Given the description of an element on the screen output the (x, y) to click on. 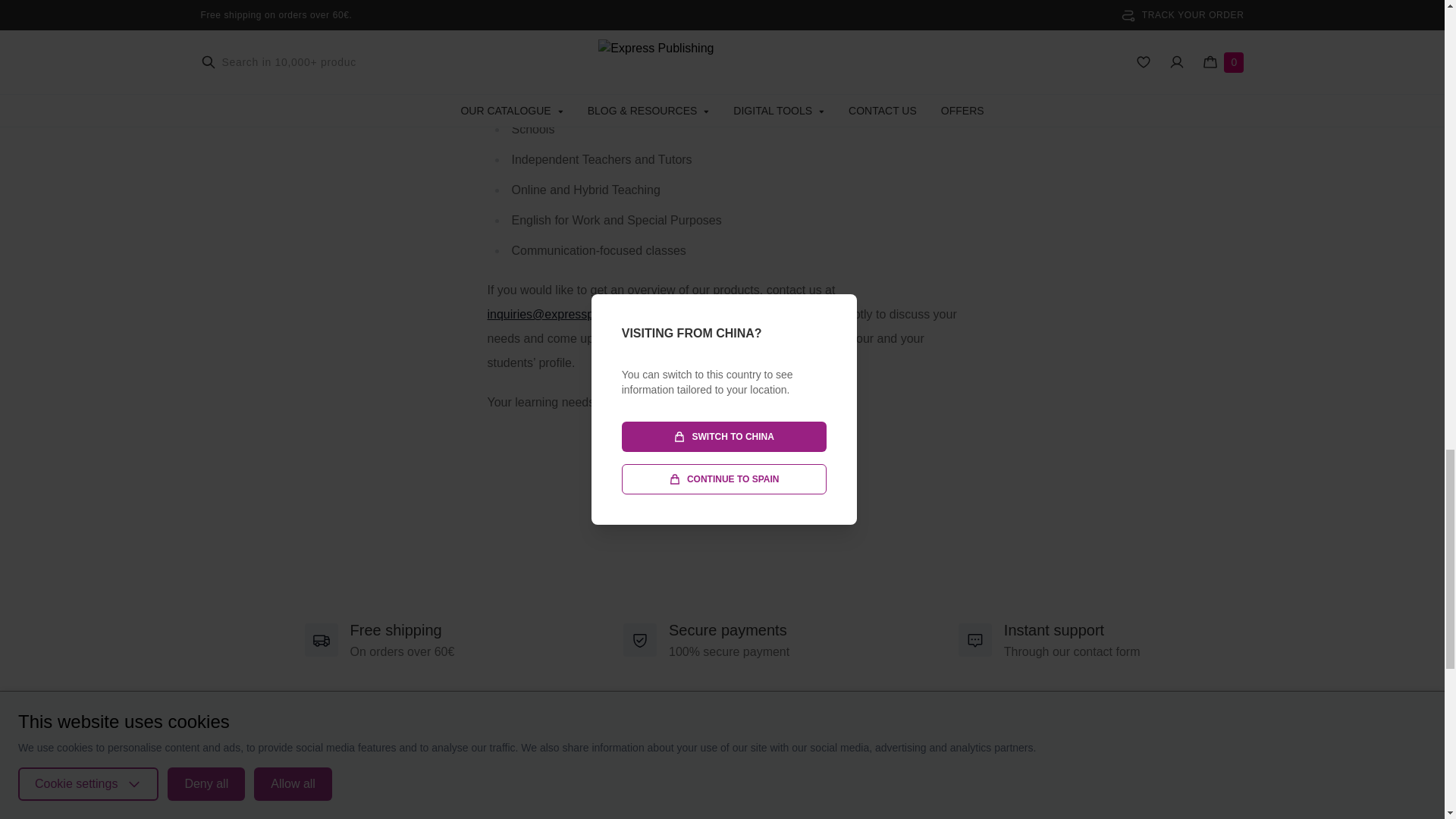
Follow us on Instagram (722, 780)
